Given the description of an element on the screen output the (x, y) to click on. 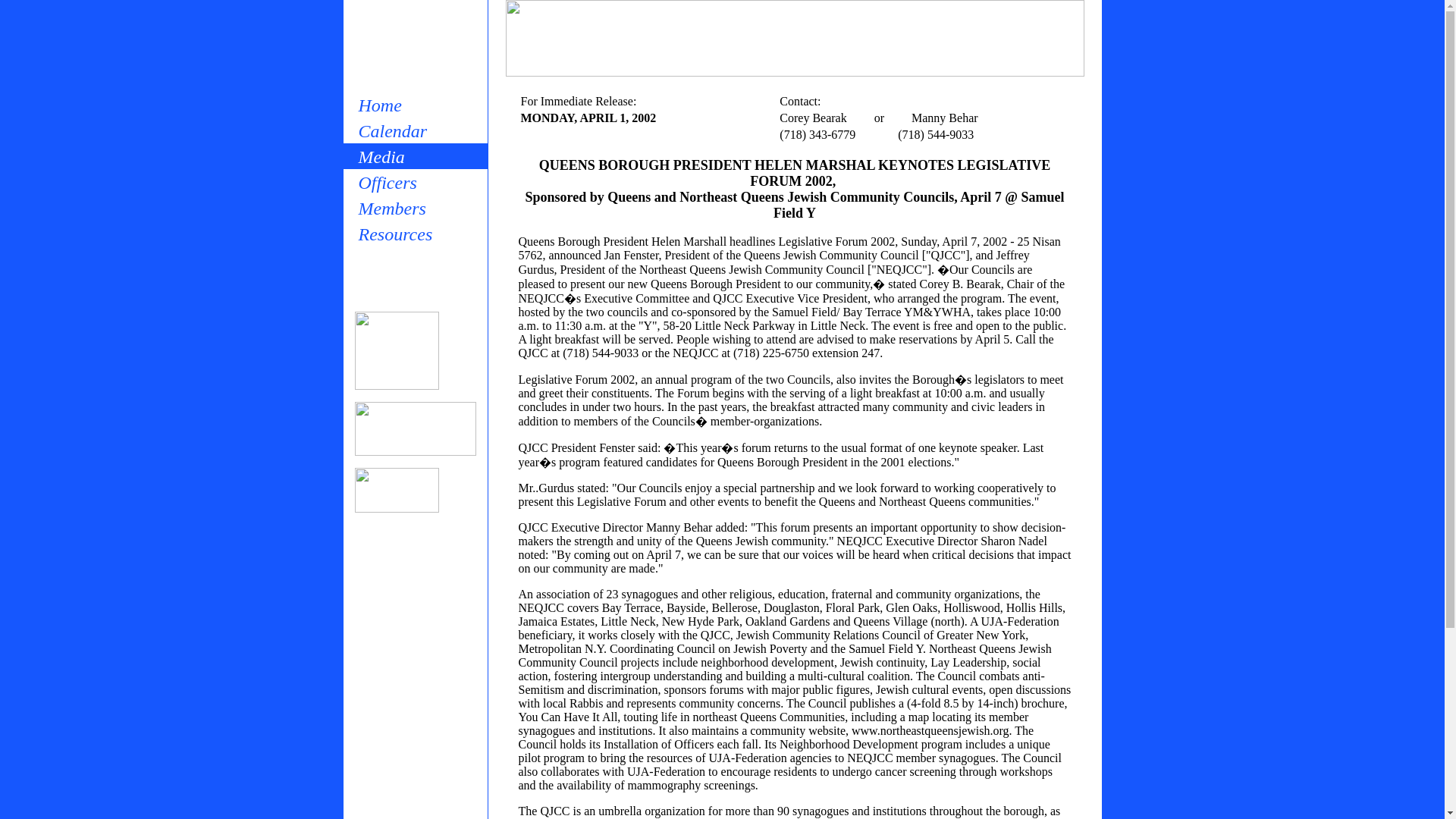
Calendar (414, 130)
Media (414, 155)
Home (414, 104)
Officers (414, 181)
Members (414, 207)
Resources (414, 233)
